Given the description of an element on the screen output the (x, y) to click on. 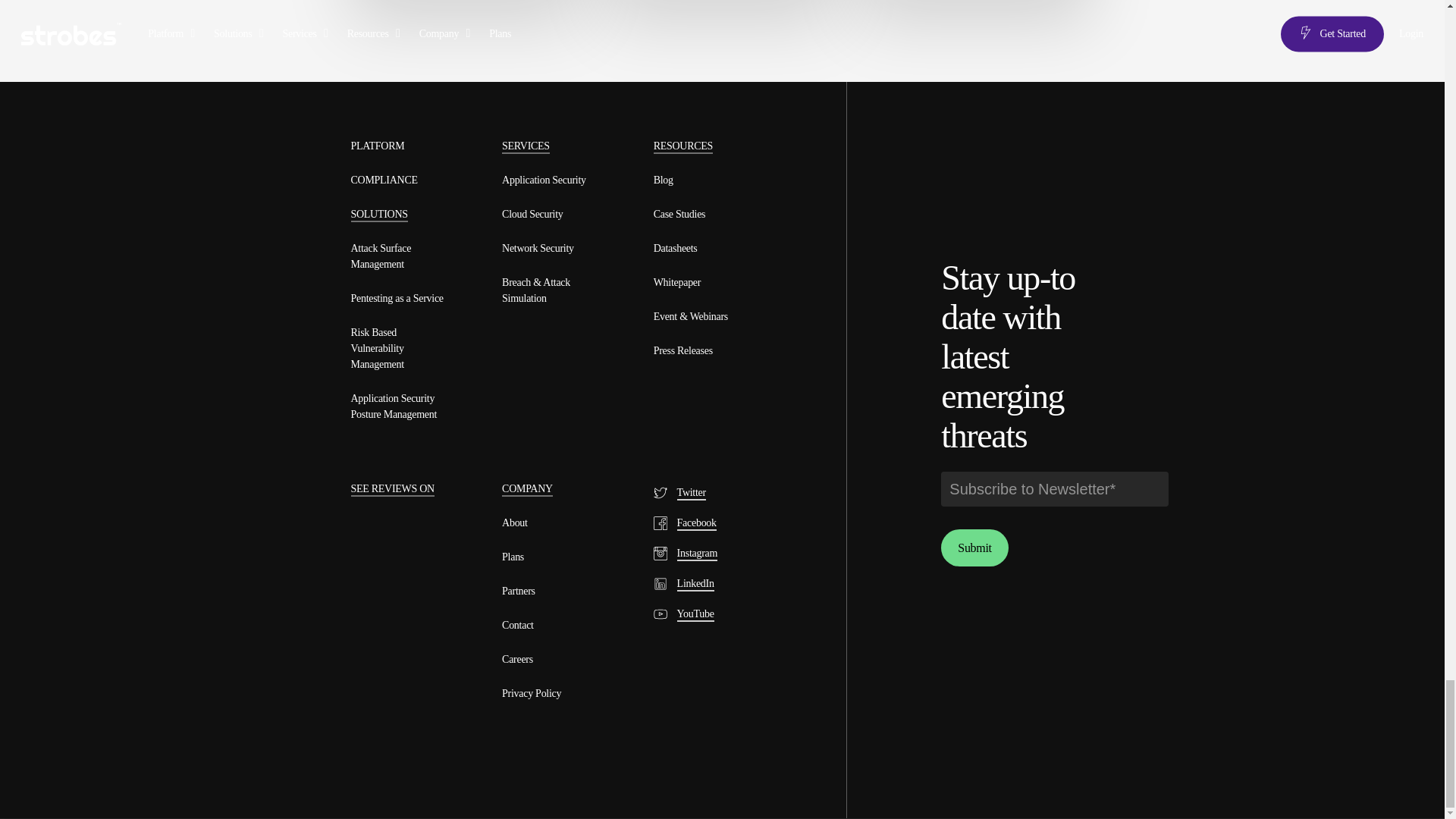
Submit (973, 547)
